Given the description of an element on the screen output the (x, y) to click on. 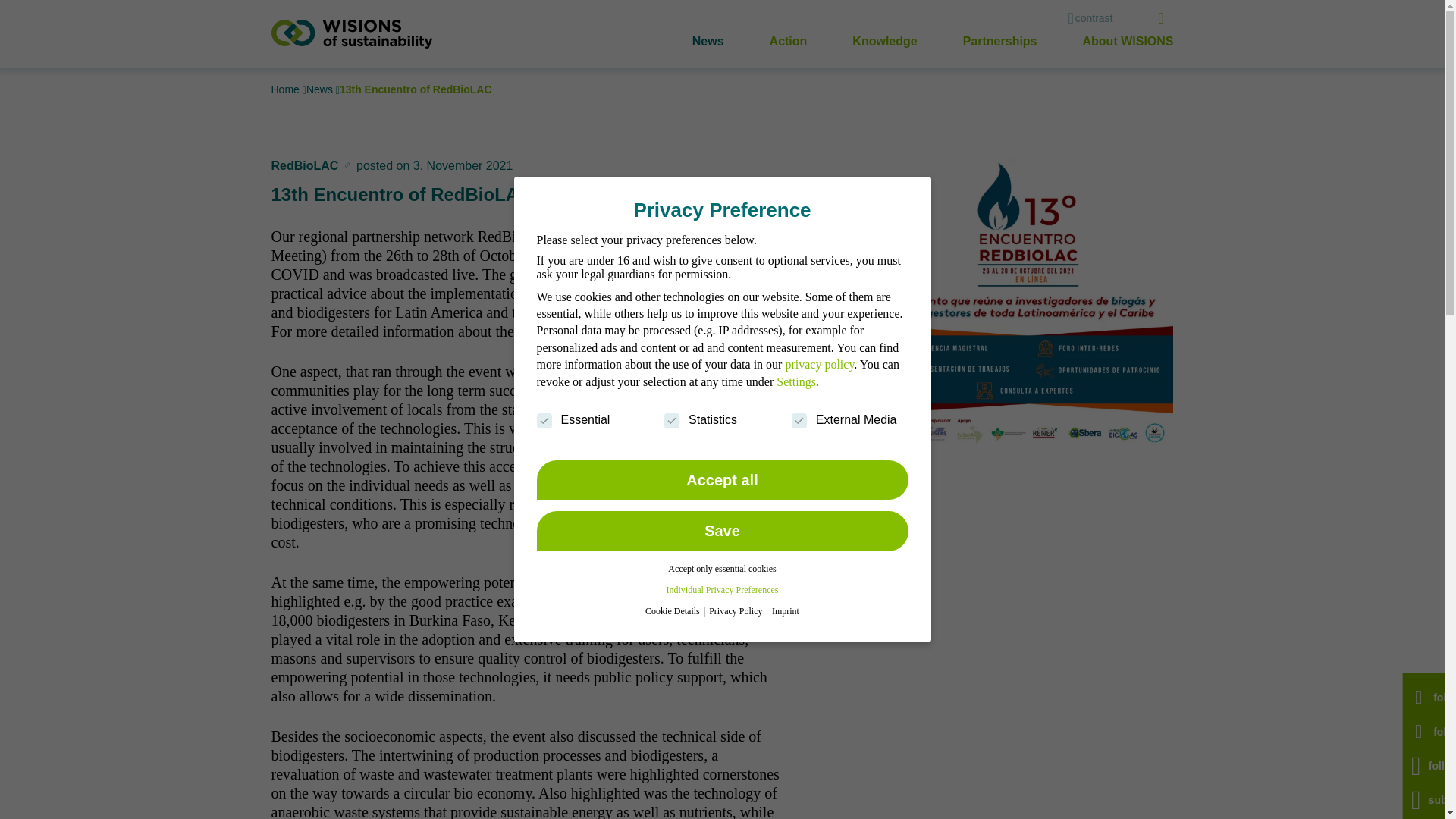
News (708, 41)
13th Encuentro of RedBioLAC (415, 89)
Open Cookie Preferences (32, 798)
Website (679, 330)
contrast (1089, 18)
Home (286, 89)
WISIONS (351, 33)
Partnerships (999, 41)
WISIONS (351, 33)
About WISIONS (1128, 41)
